Given the description of an element on the screen output the (x, y) to click on. 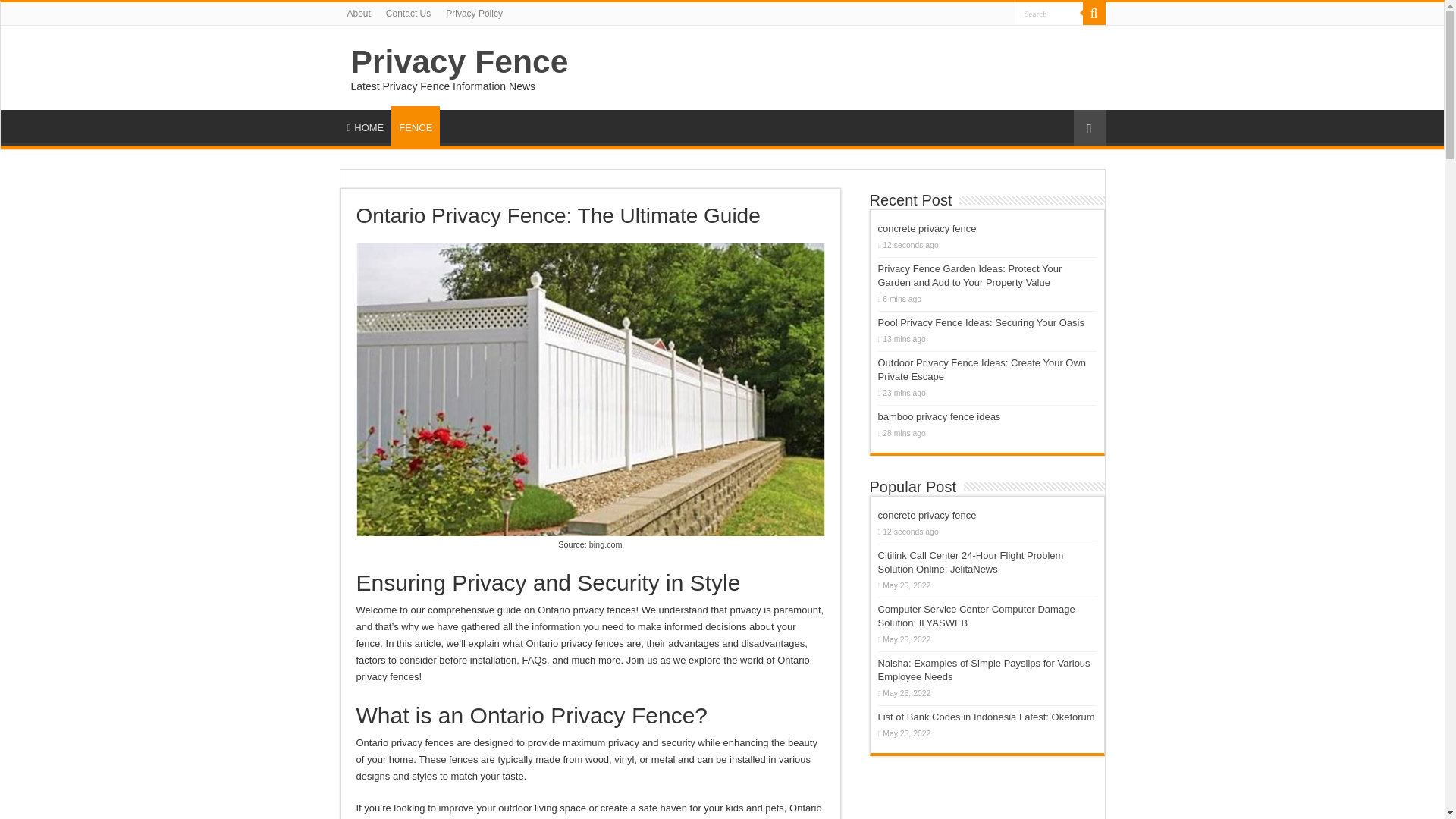
HOME (365, 125)
bamboo privacy fence ideas (939, 416)
About (358, 13)
Privacy Policy (474, 13)
Search (1094, 13)
Contact Us (408, 13)
Search (1048, 13)
FENCE (415, 125)
Privacy Fence (458, 61)
Pool Privacy Fence Ideas: Securing Your Oasis (980, 322)
concrete privacy fence (926, 514)
List of Bank Codes in Indonesia Latest: Okeforum (985, 716)
